Given the description of an element on the screen output the (x, y) to click on. 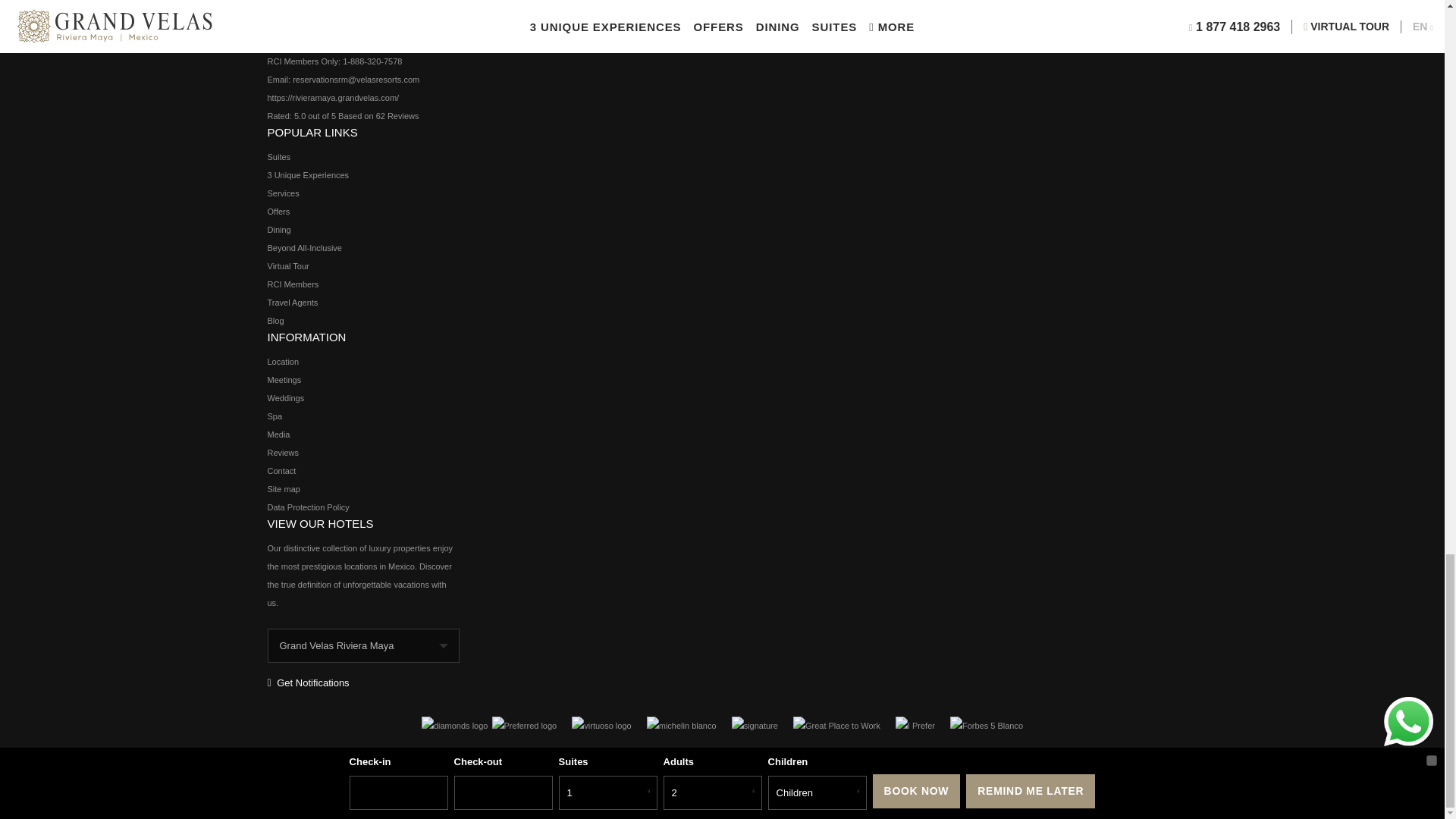
877-418-2963 (359, 42)
1-888-320-7578 (371, 61)
62 Reviews (397, 115)
1-877-418-2963 (392, 24)
